Given the description of an element on the screen output the (x, y) to click on. 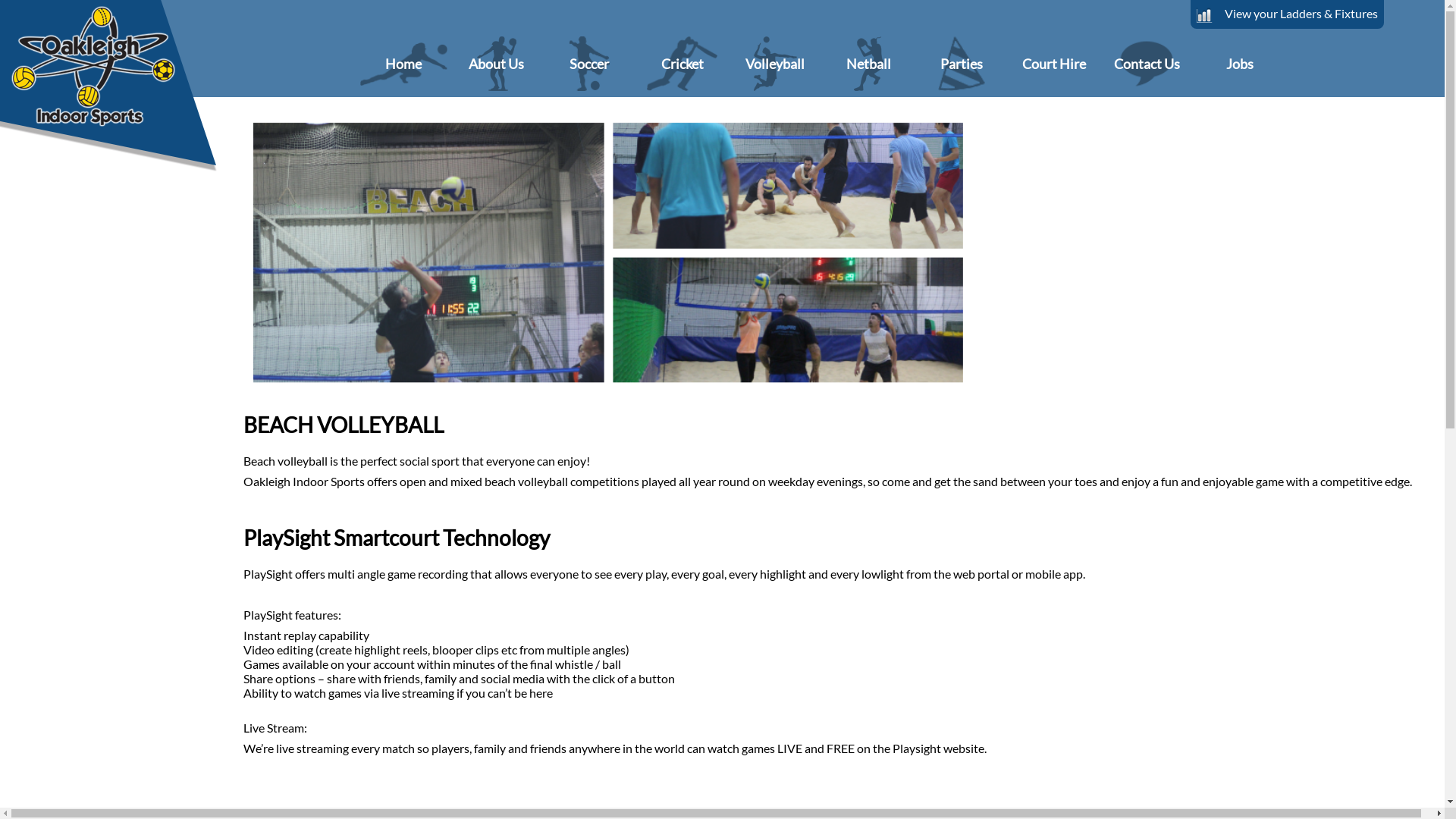
Court Hire Element type: text (1054, 63)
Oakleigh Indoor Sports Element type: hover (114, 89)
Cricket Element type: text (681, 63)
Parties Element type: text (960, 63)
About Us Element type: text (495, 63)
View your Ladders & Fixtures Element type: text (1286, 13)
Home Element type: text (403, 63)
Netball Element type: text (868, 63)
Jobs Element type: text (1239, 63)
Contact Us Element type: text (1146, 63)
Volleyball Element type: text (775, 63)
Oakleigh Indoor Sports Element type: hover (116, 89)
Soccer Element type: text (589, 63)
